Given the description of an element on the screen output the (x, y) to click on. 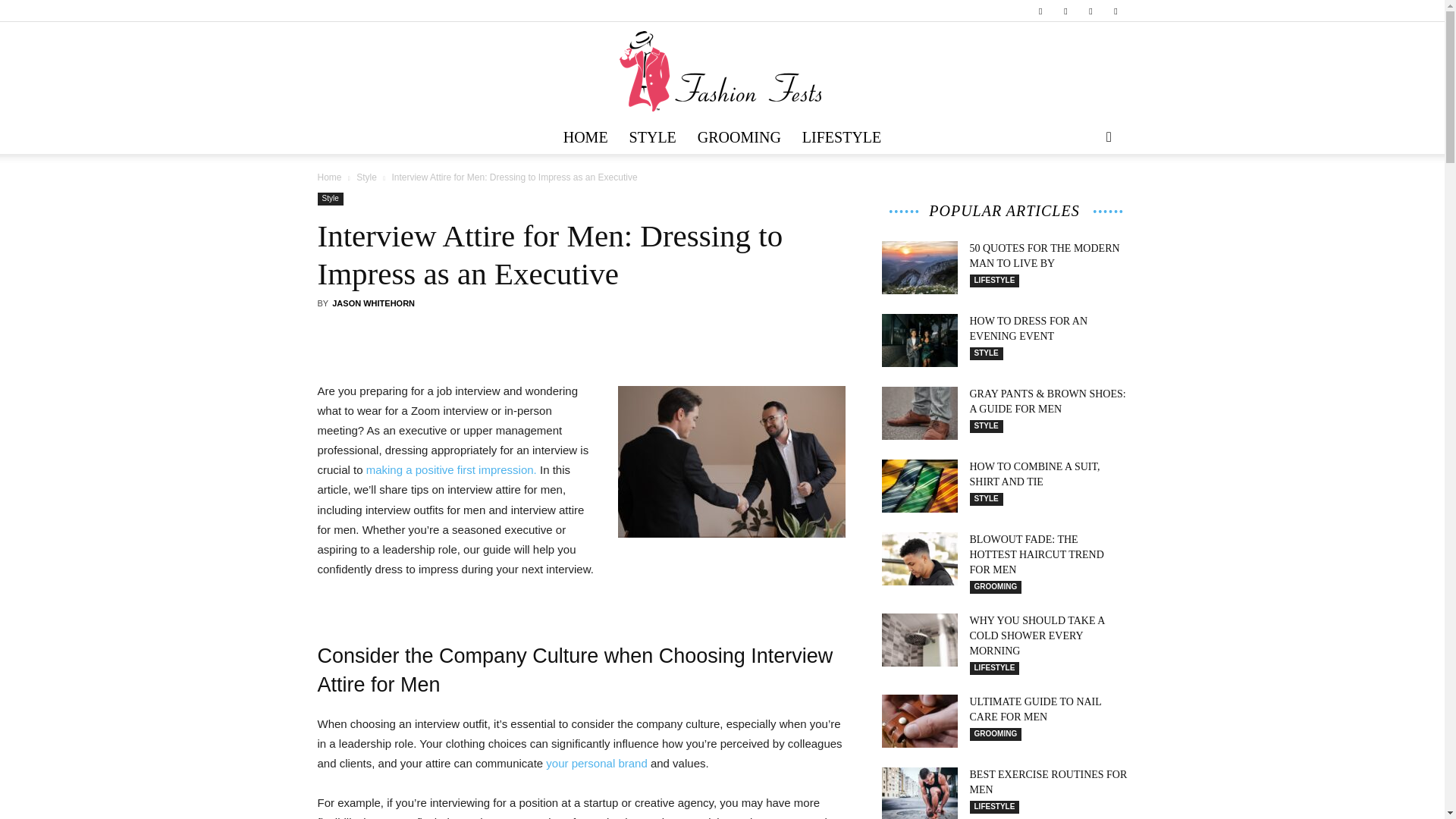
LIFESTYLE (841, 136)
Style (329, 198)
Facebook (1040, 10)
GROOMING (739, 136)
Pinterest (1090, 10)
View all posts in Style (366, 176)
Search (1085, 196)
HOME (585, 136)
JASON WHITEHORN (372, 302)
Home (328, 176)
